Given the description of an element on the screen output the (x, y) to click on. 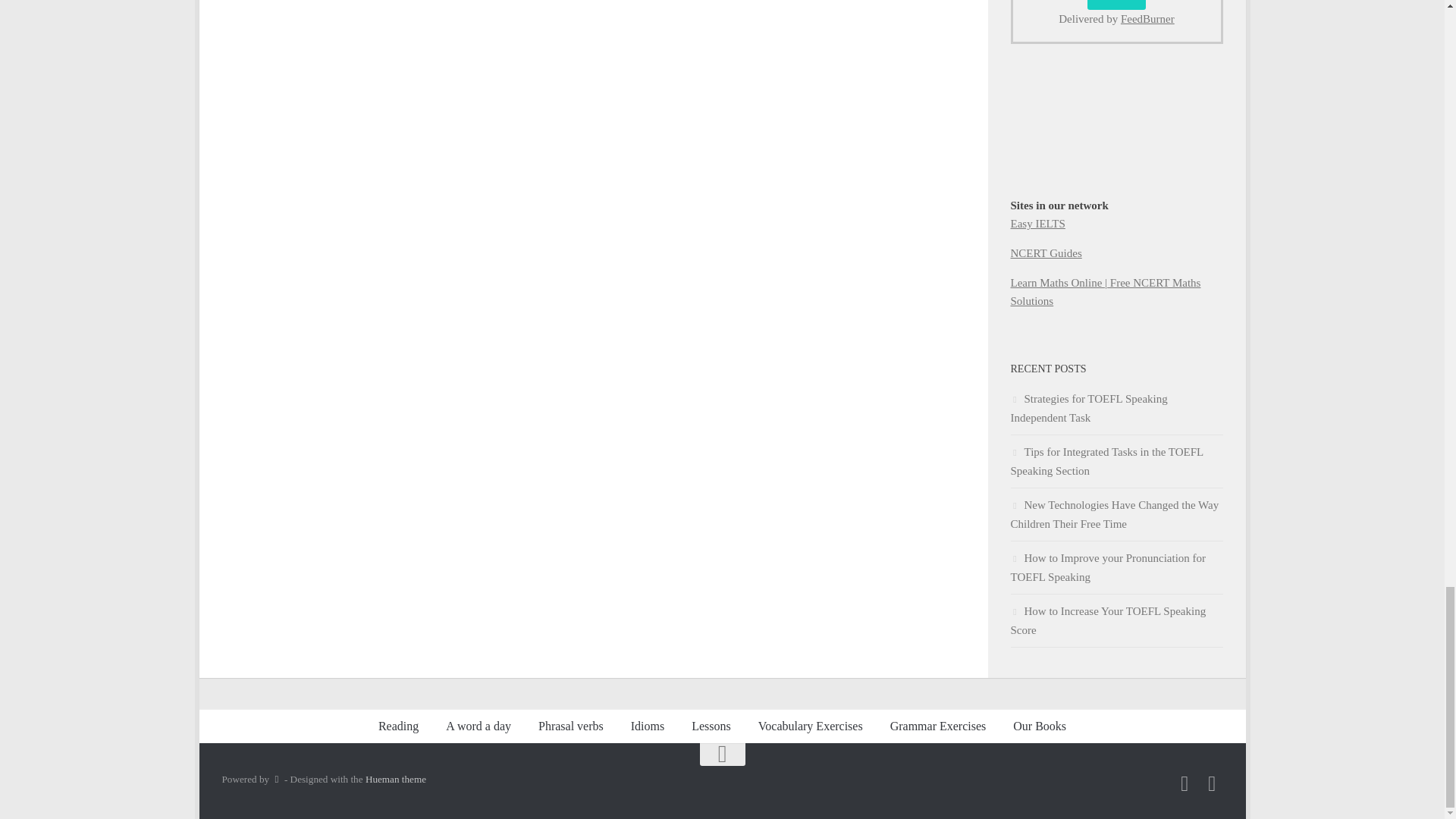
Subscribe (1115, 4)
